Given the description of an element on the screen output the (x, y) to click on. 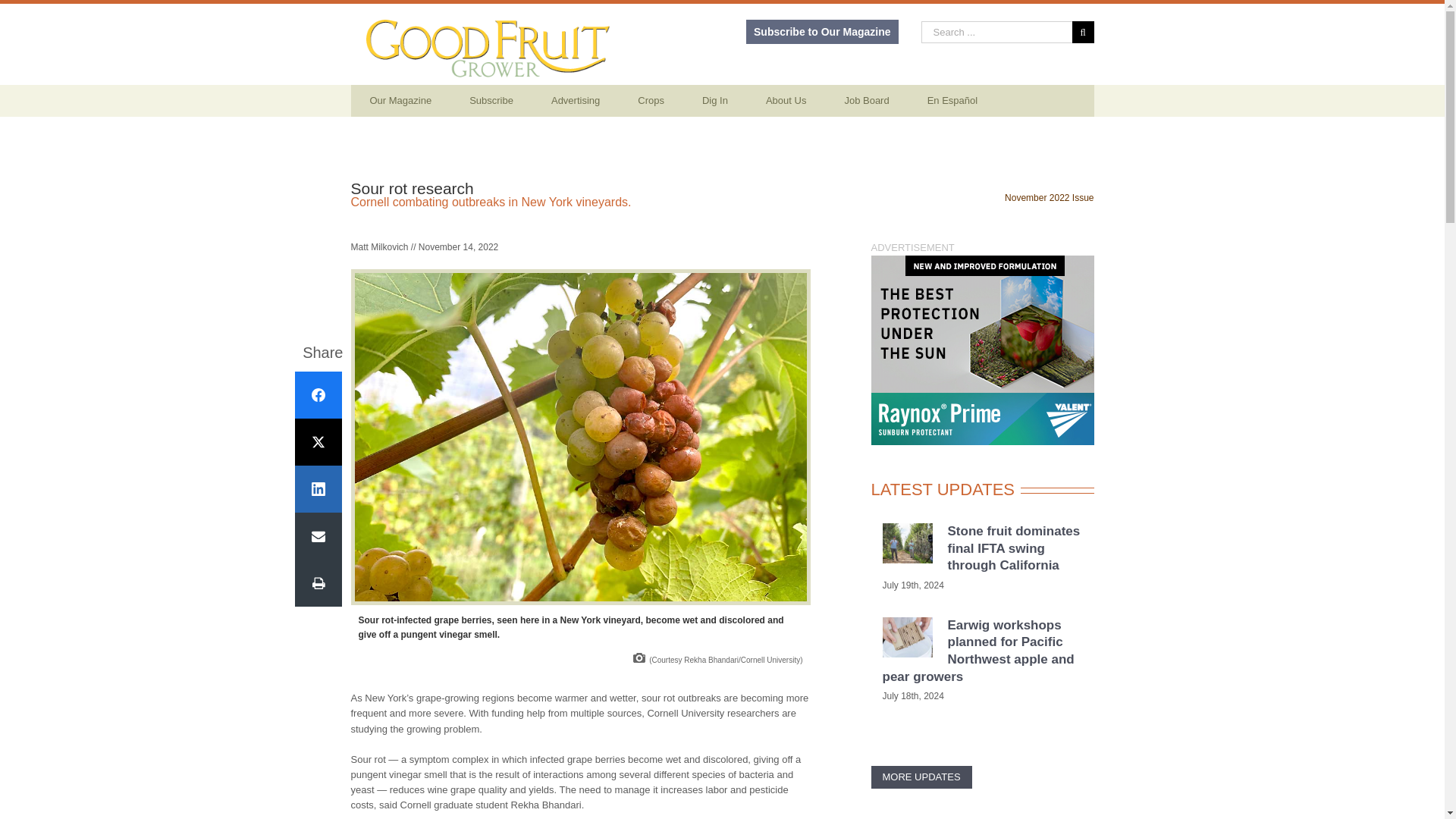
Subscribe to Our Magazine (821, 31)
Subscribe (490, 101)
Our Magazine (400, 101)
About Us (785, 101)
Advertising (575, 101)
3rd party ad content (981, 350)
